Given the description of an element on the screen output the (x, y) to click on. 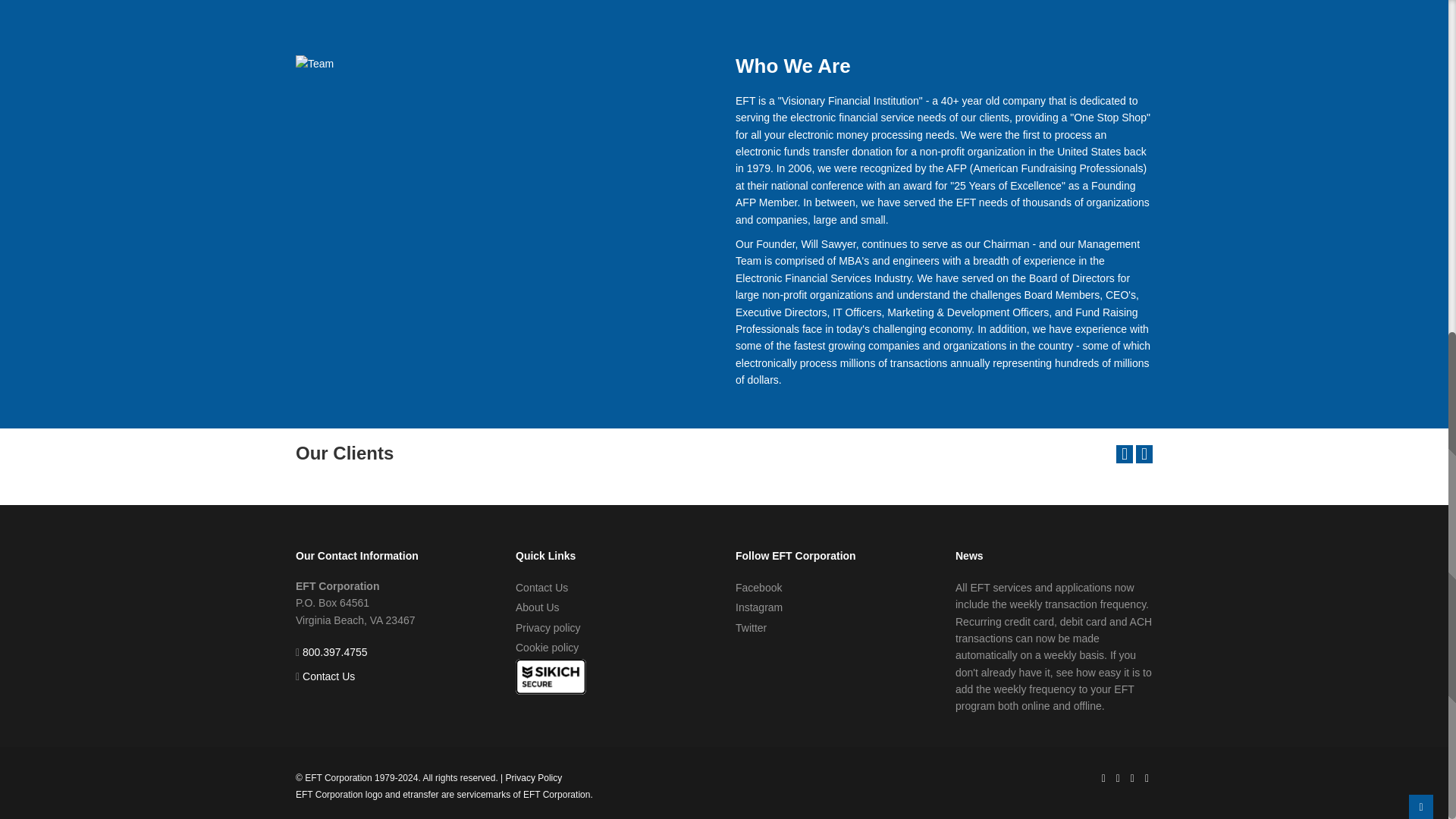
Contact Us (328, 676)
800.397.4755 (335, 652)
